Given the description of an element on the screen output the (x, y) to click on. 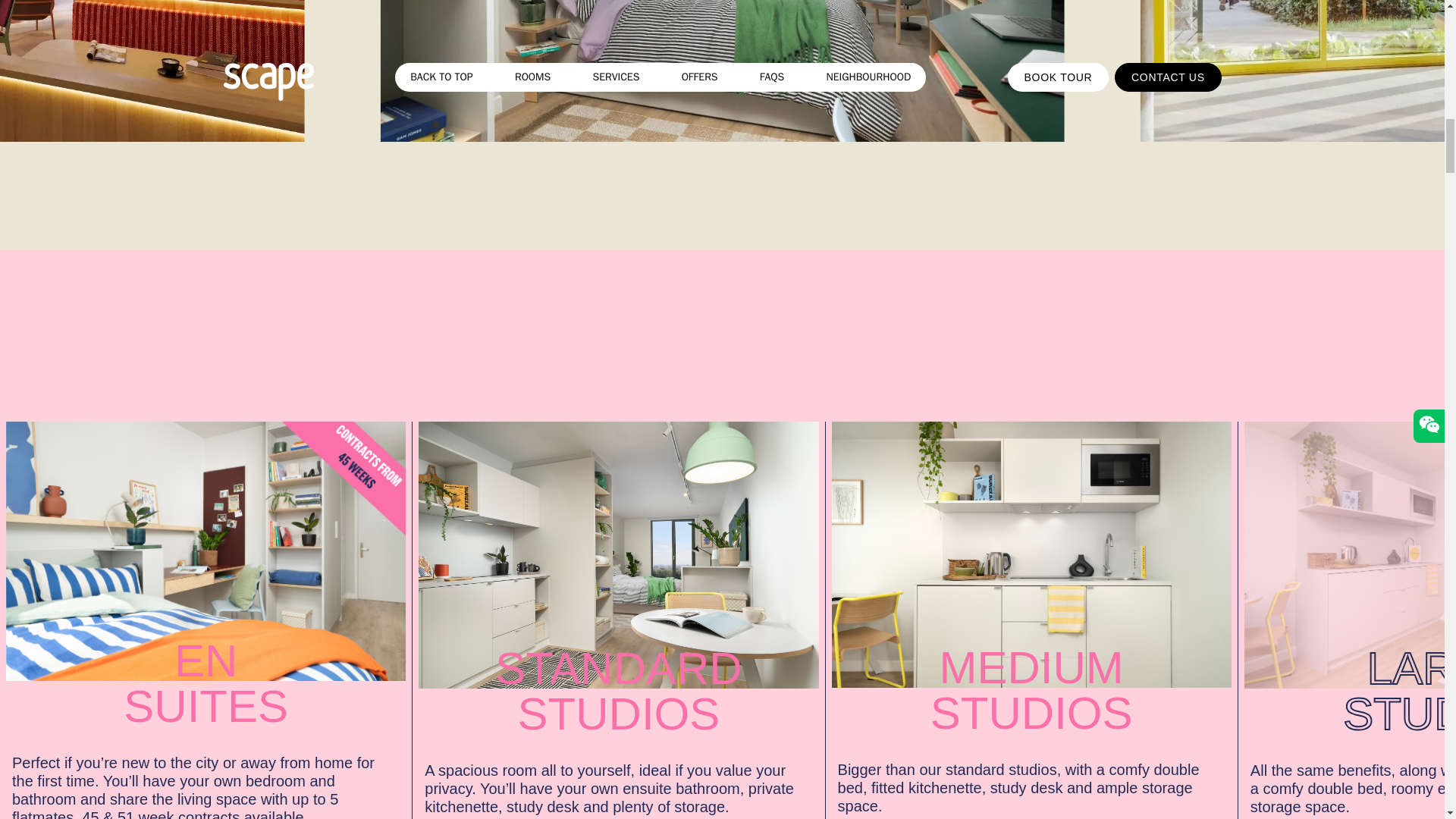
MEDIUM STUDIOS (1031, 587)
EN SUITES (205, 584)
STANDARD STUDIOS (618, 588)
